Given the description of an element on the screen output the (x, y) to click on. 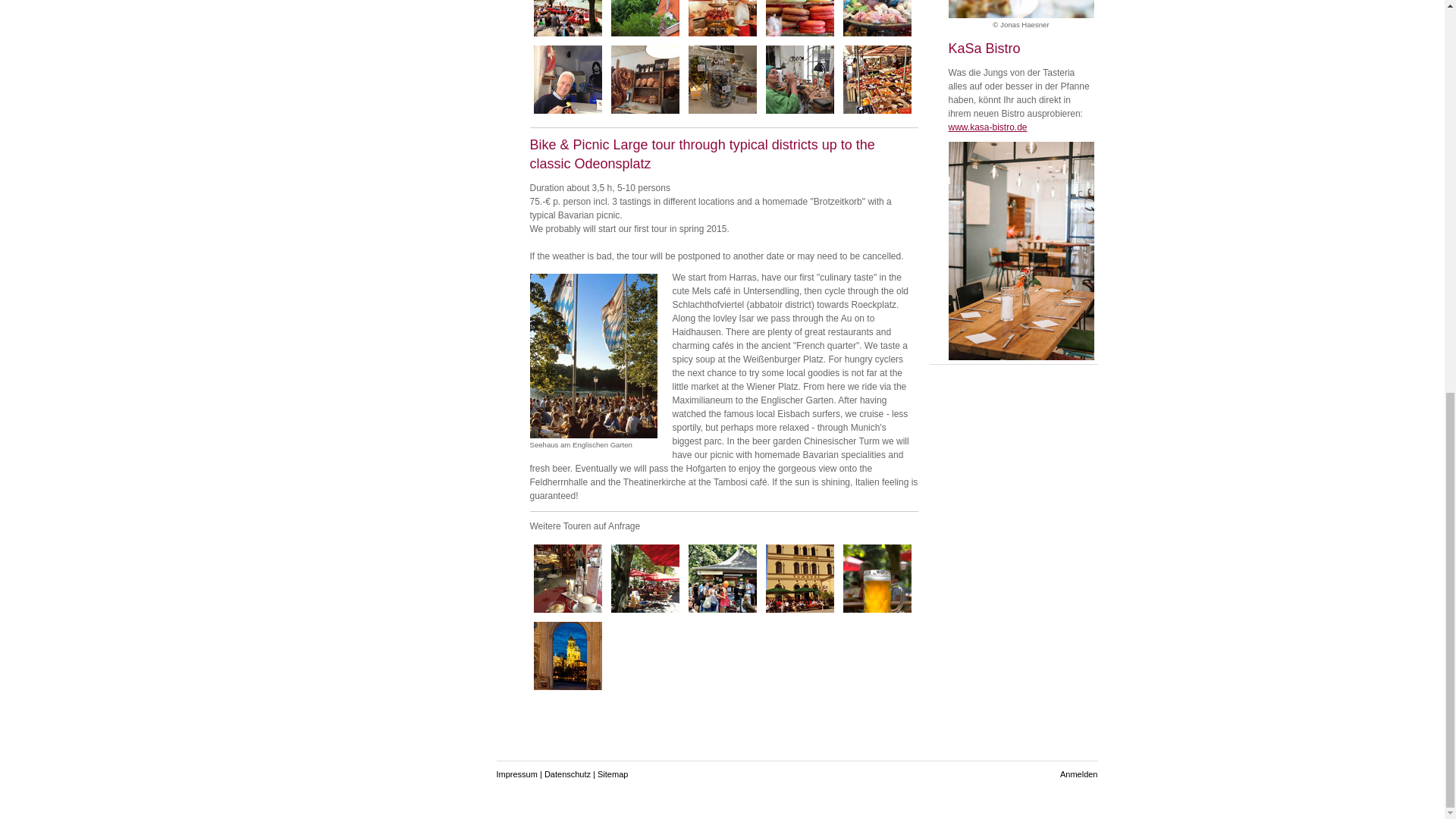
Deutsch (986, 127)
Anmelden (1078, 773)
Sitemap (611, 773)
www.kasa-bistro.de (986, 127)
Impressum (516, 773)
Datenschutz (567, 773)
